Given the description of an element on the screen output the (x, y) to click on. 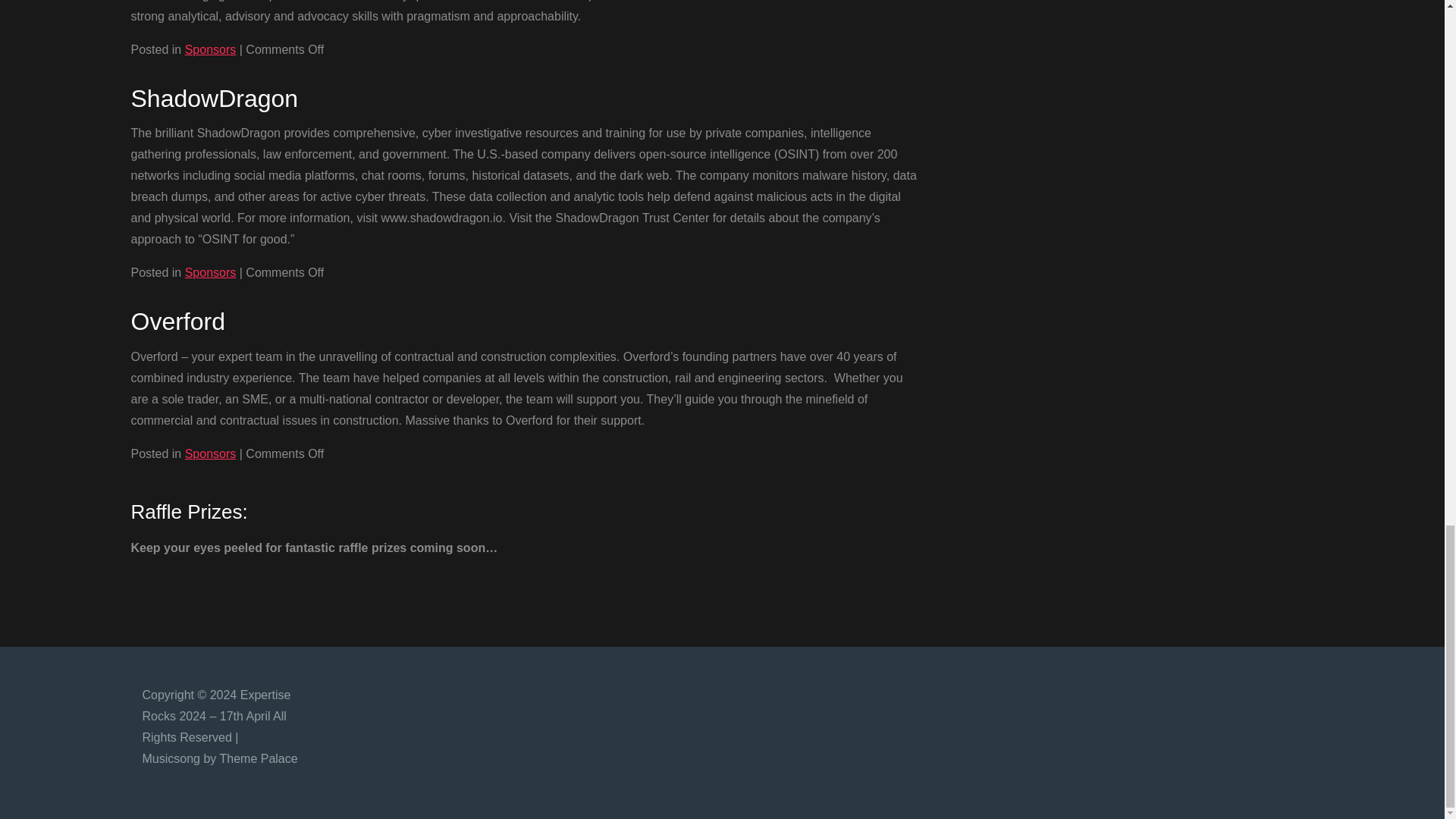
ShadowDragon (214, 98)
Sponsors (209, 453)
Theme Palace (258, 758)
Sponsors (209, 272)
Sponsors (209, 49)
Overford (177, 320)
